Given the description of an element on the screen output the (x, y) to click on. 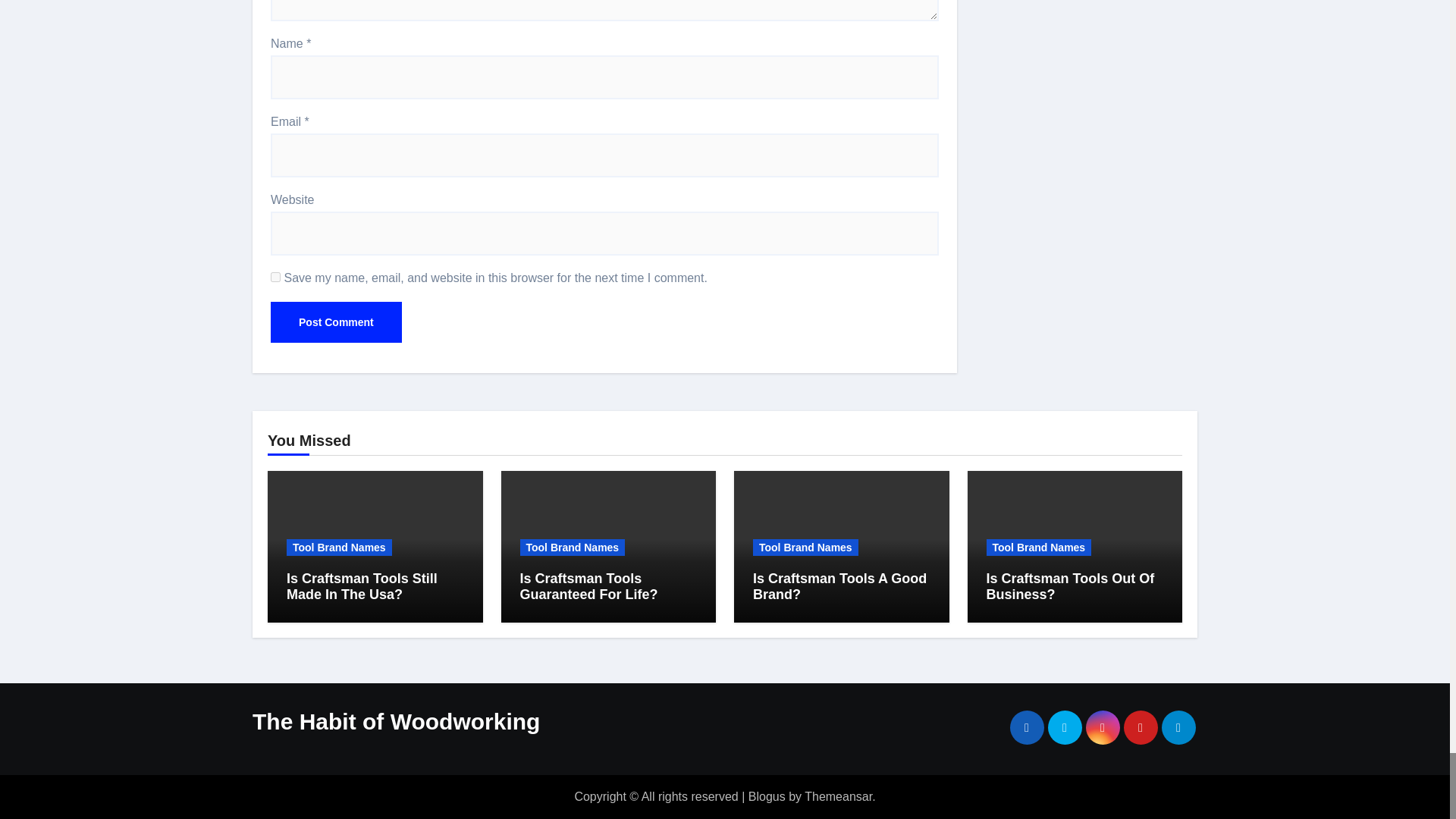
Permalink to: Is Craftsman Tools Out Of Business? (1069, 585)
Permalink to: Is Craftsman Tools Guaranteed For Life? (588, 585)
yes (275, 276)
Permalink to: Is Craftsman Tools A Good Brand? (839, 585)
Permalink to: Is Craftsman Tools Still Made In The Usa? (362, 585)
Post Comment (335, 322)
